Given the description of an element on the screen output the (x, y) to click on. 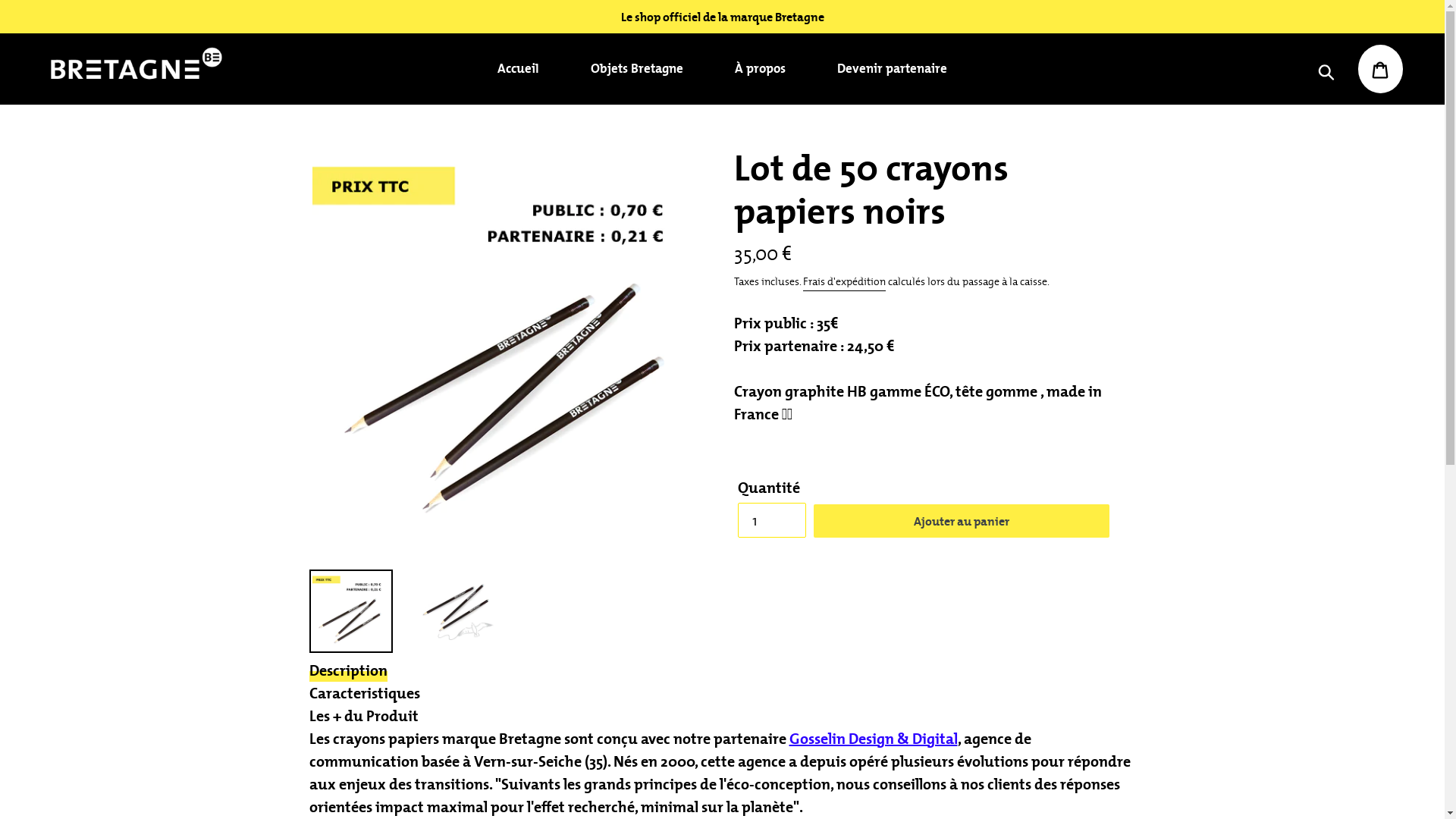
e Gosselin Design & Digital Element type: text (867, 738)
Objets Bretagne Element type: text (636, 68)
Ajouter au panier Element type: text (960, 520)
Panier Element type: text (1379, 68)
Soumettre Element type: text (1325, 68)
Devenir partenaire Element type: text (891, 68)
Caracteristiques Element type: text (364, 692)
Accueil Element type: text (517, 68)
Description Element type: text (348, 670)
Les + du Produit Element type: text (363, 715)
